Given the description of an element on the screen output the (x, y) to click on. 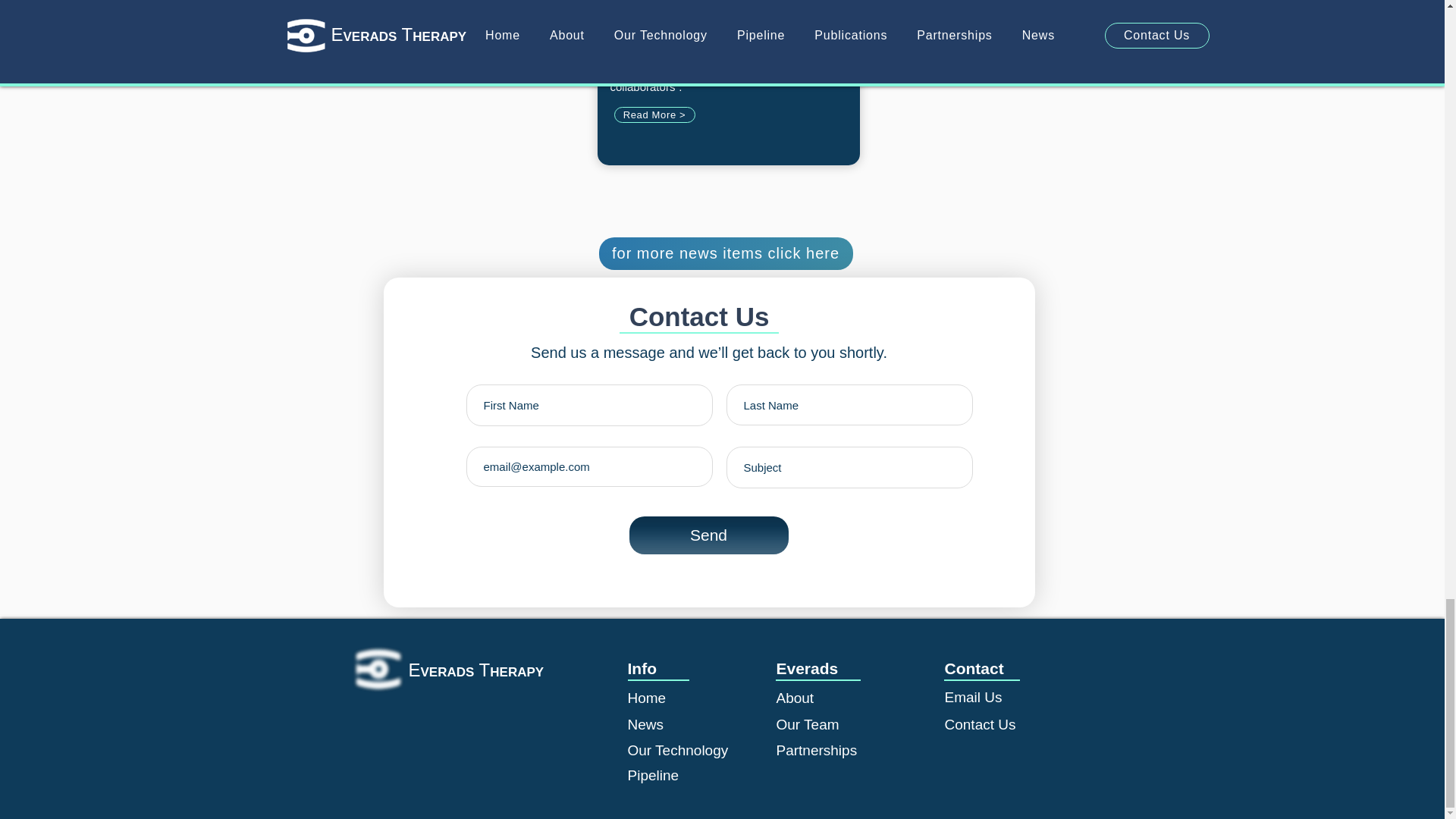
Our Team (808, 724)
Our Technology (678, 750)
Home (646, 697)
Pipeline (653, 774)
for more news items click here (725, 253)
Email Us (973, 697)
About (794, 697)
News (645, 724)
Contact Us (980, 724)
Partnerships (816, 750)
